Given the description of an element on the screen output the (x, y) to click on. 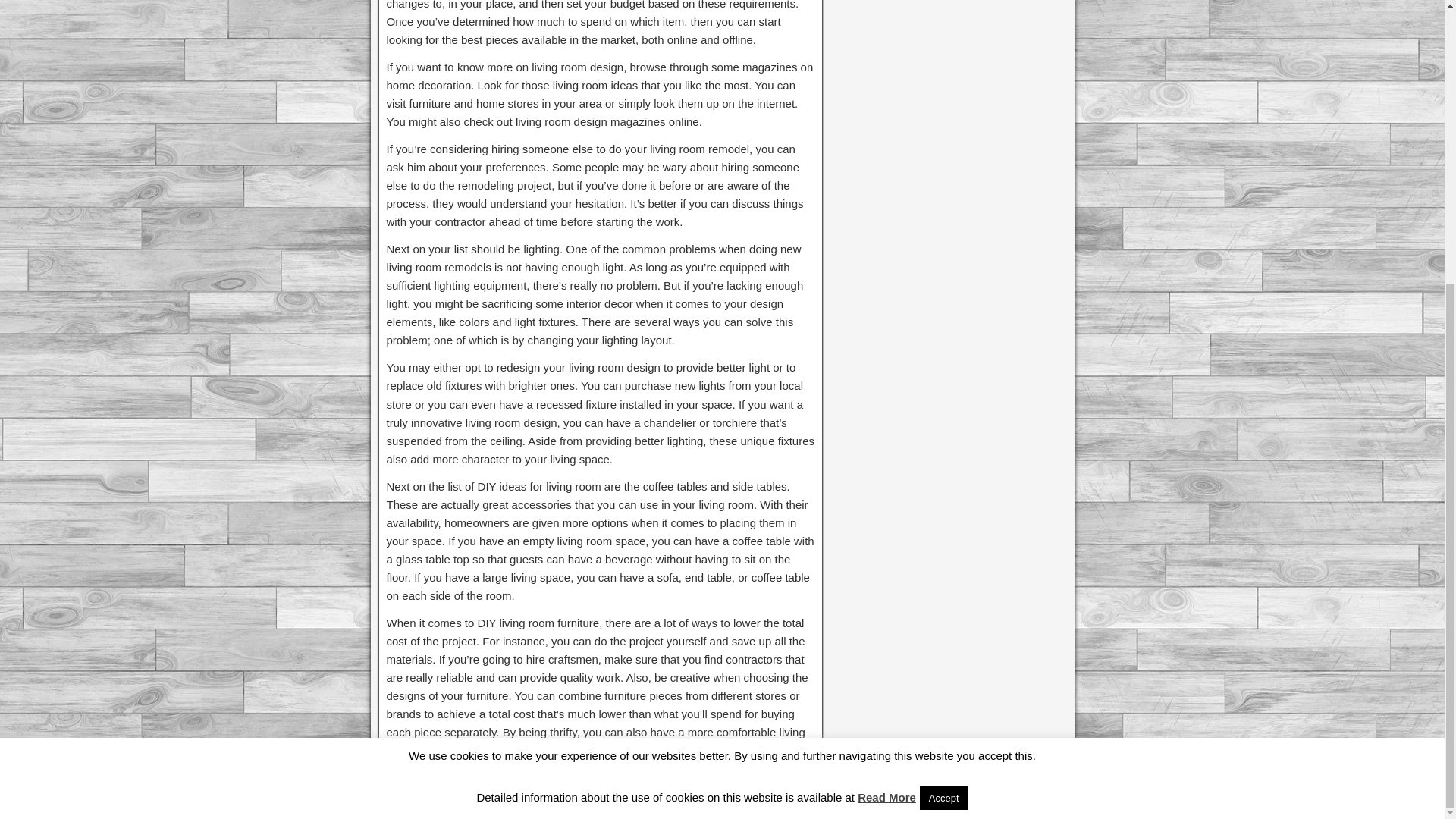
Read More (886, 372)
Accept (944, 372)
Frontier Theme (1026, 805)
